Given the description of an element on the screen output the (x, y) to click on. 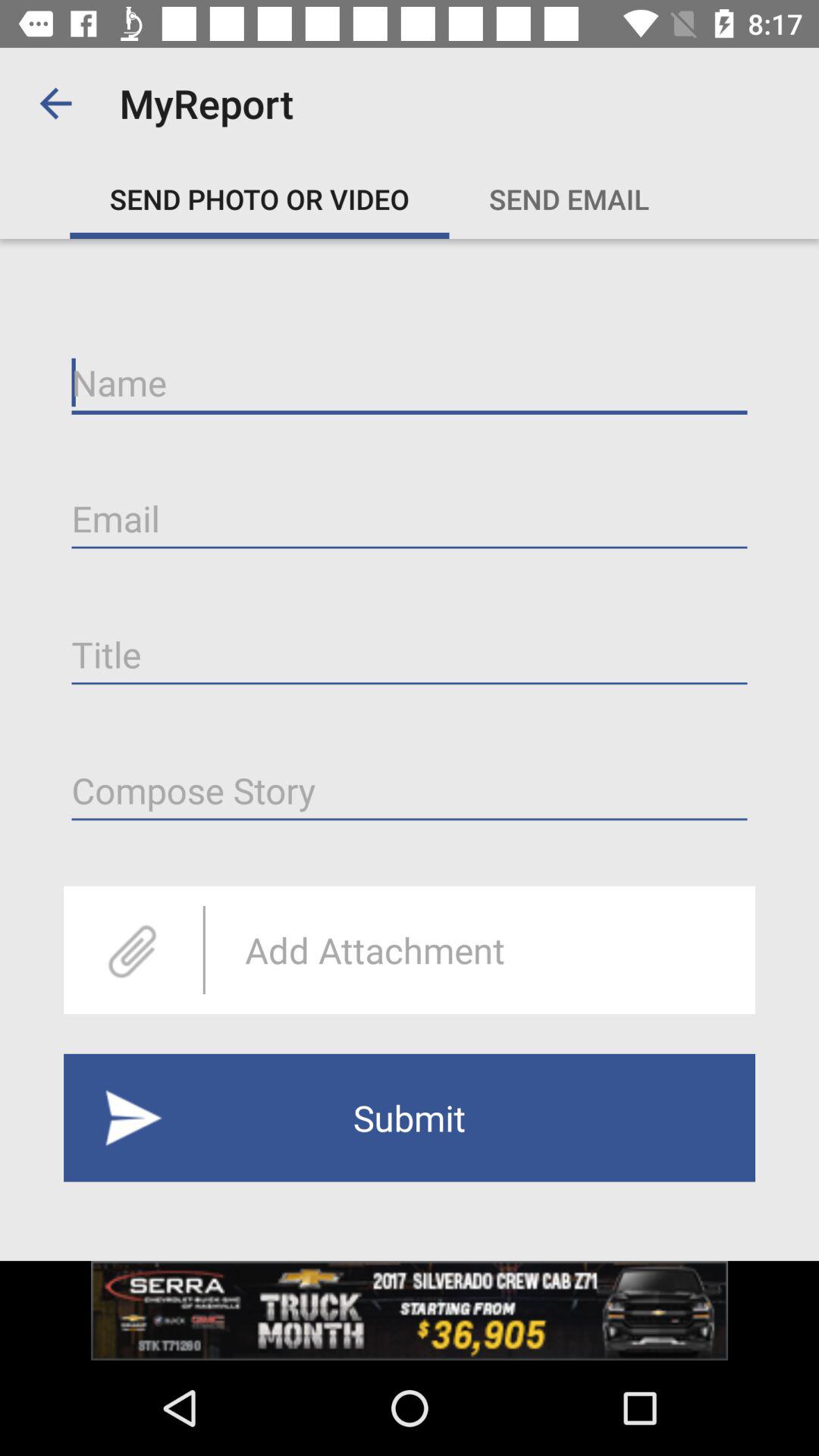
email field (409, 519)
